Given the description of an element on the screen output the (x, y) to click on. 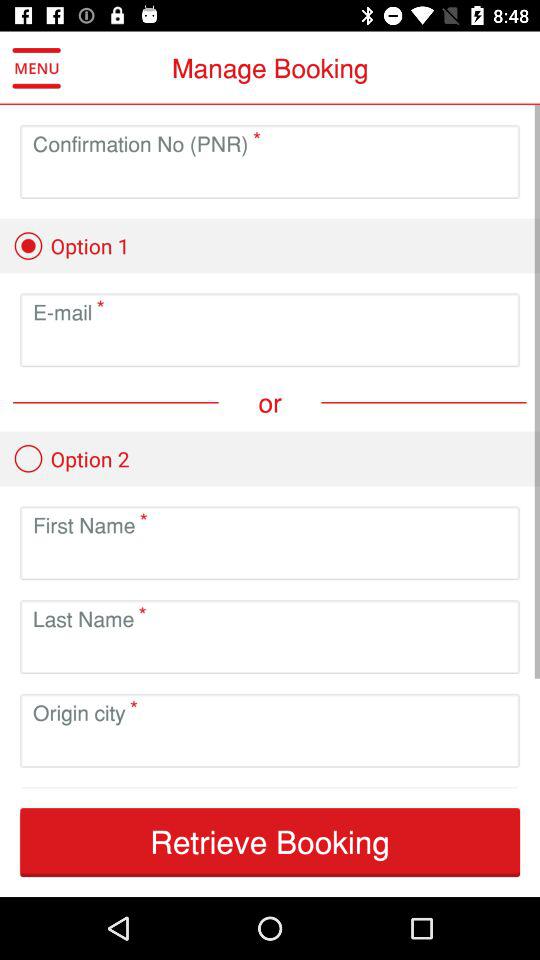
turn off the option 1 (71, 245)
